Given the description of an element on the screen output the (x, y) to click on. 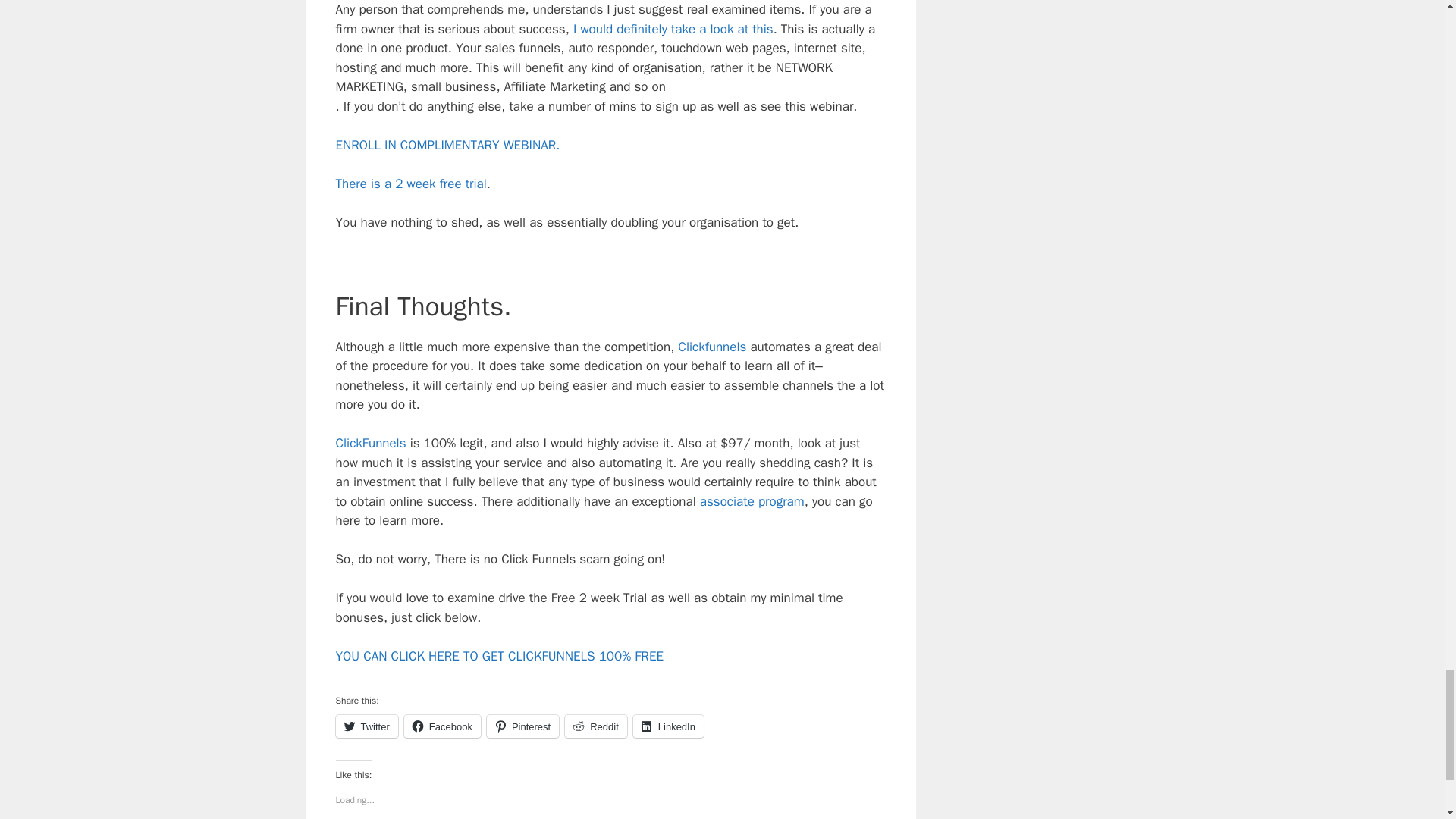
Click to share on Reddit (595, 725)
Click to share on Pinterest (522, 725)
Click to share on Twitter (365, 725)
Click to share on Facebook (442, 725)
Click to share on LinkedIn (668, 725)
